Given the description of an element on the screen output the (x, y) to click on. 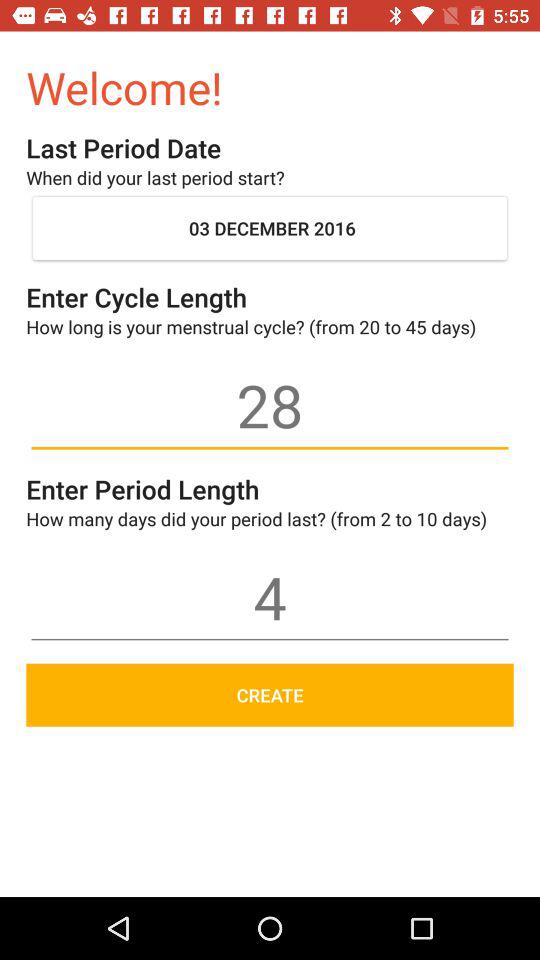
jump until the create icon (269, 694)
